Given the description of an element on the screen output the (x, y) to click on. 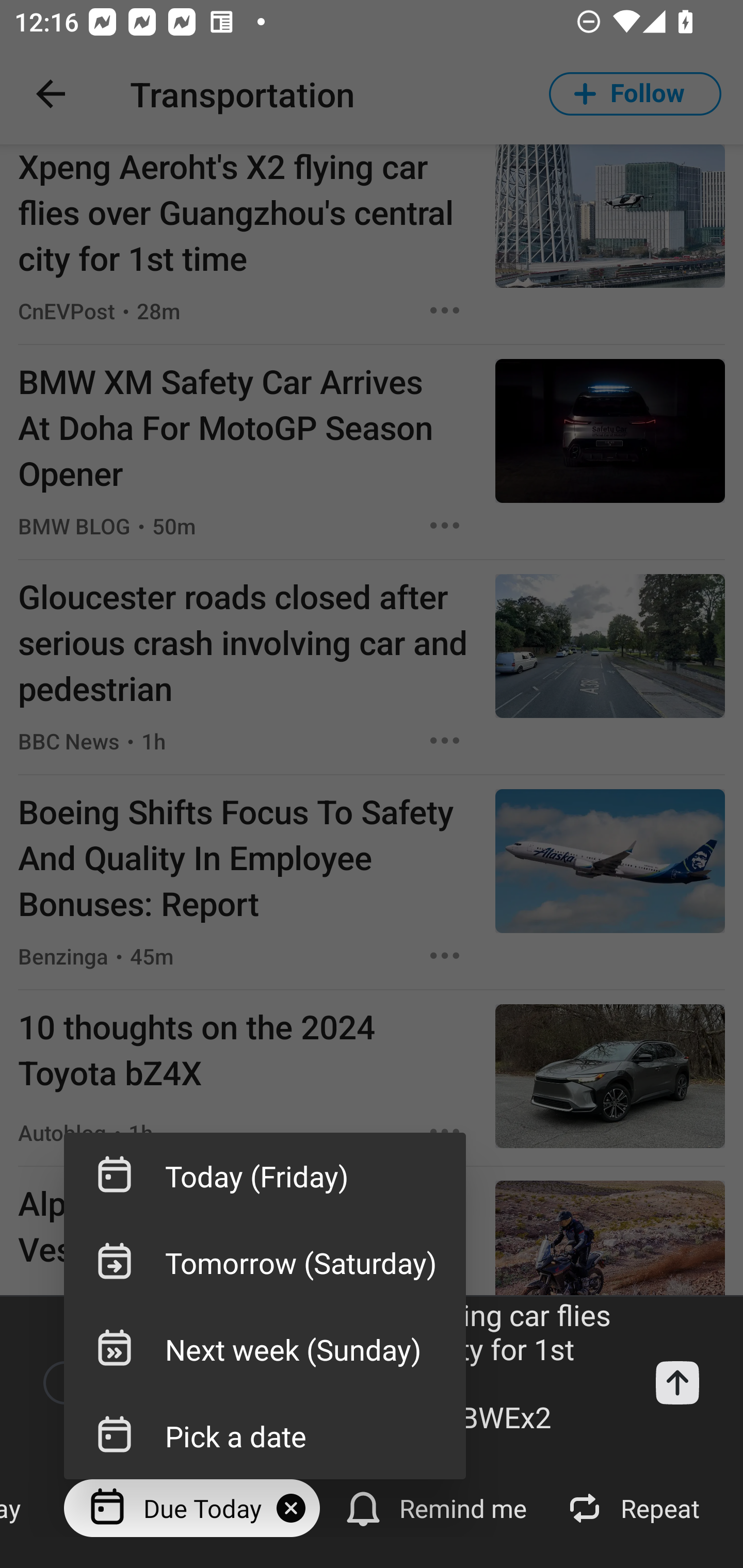
Today (Friday)1 in 4 Today (Friday) (264, 1175)
Tomorrow (Saturday)2 in 4 Tomorrow (Saturday) (264, 1262)
Next week (Sunday)3 in 4 Next week (Sunday) (264, 1349)
Pick a date4 in 4 Pick a date (264, 1435)
